Given the description of an element on the screen output the (x, y) to click on. 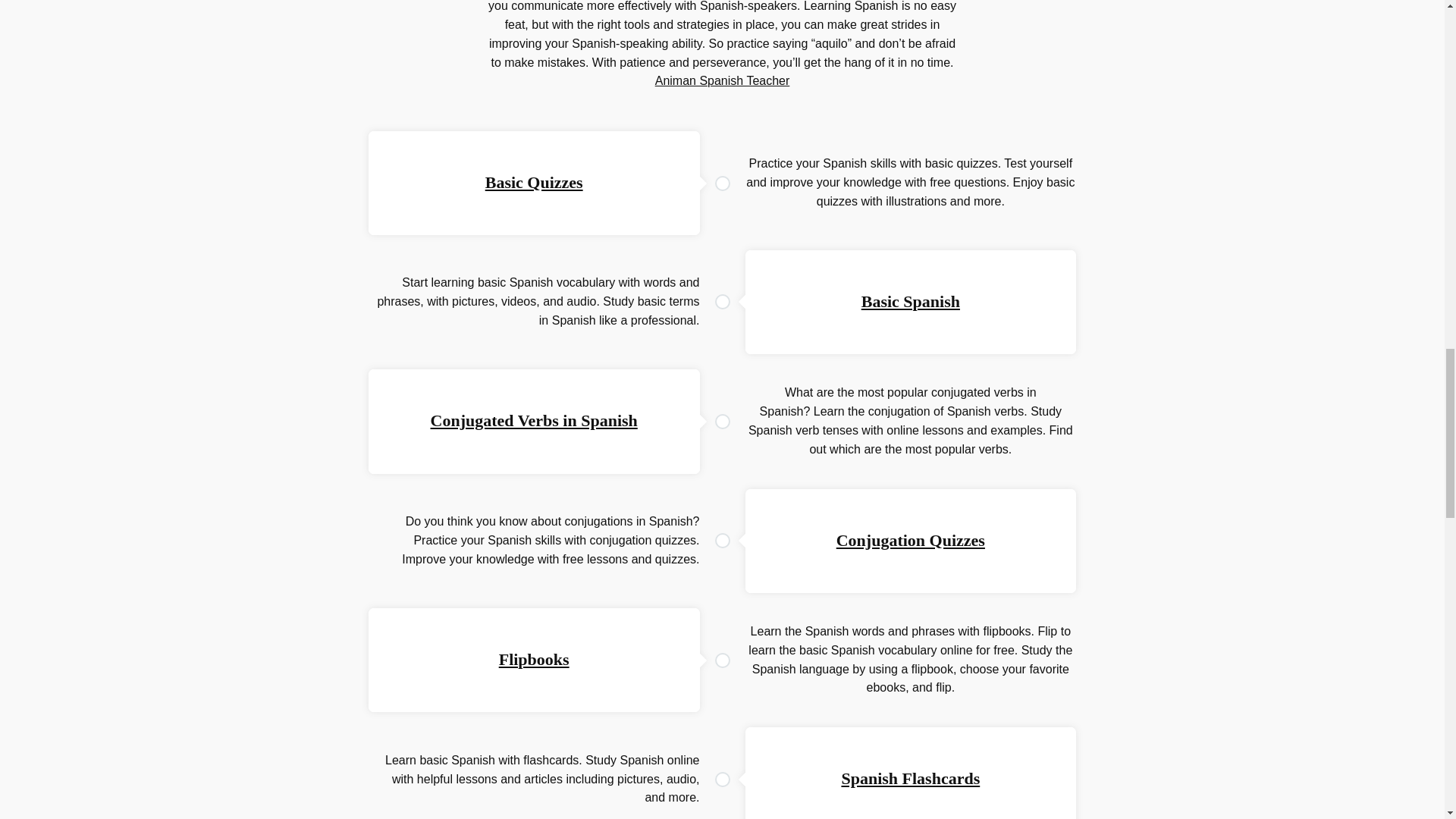
Flipbooks (534, 659)
Basic Quizzes (533, 181)
Basic Spanish (910, 301)
Conjugated Verbs in Spanish (533, 420)
Conjugation Quizzes (910, 539)
Animan Spanish Teacher (722, 80)
Spanish Flashcards (910, 778)
